Given the description of an element on the screen output the (x, y) to click on. 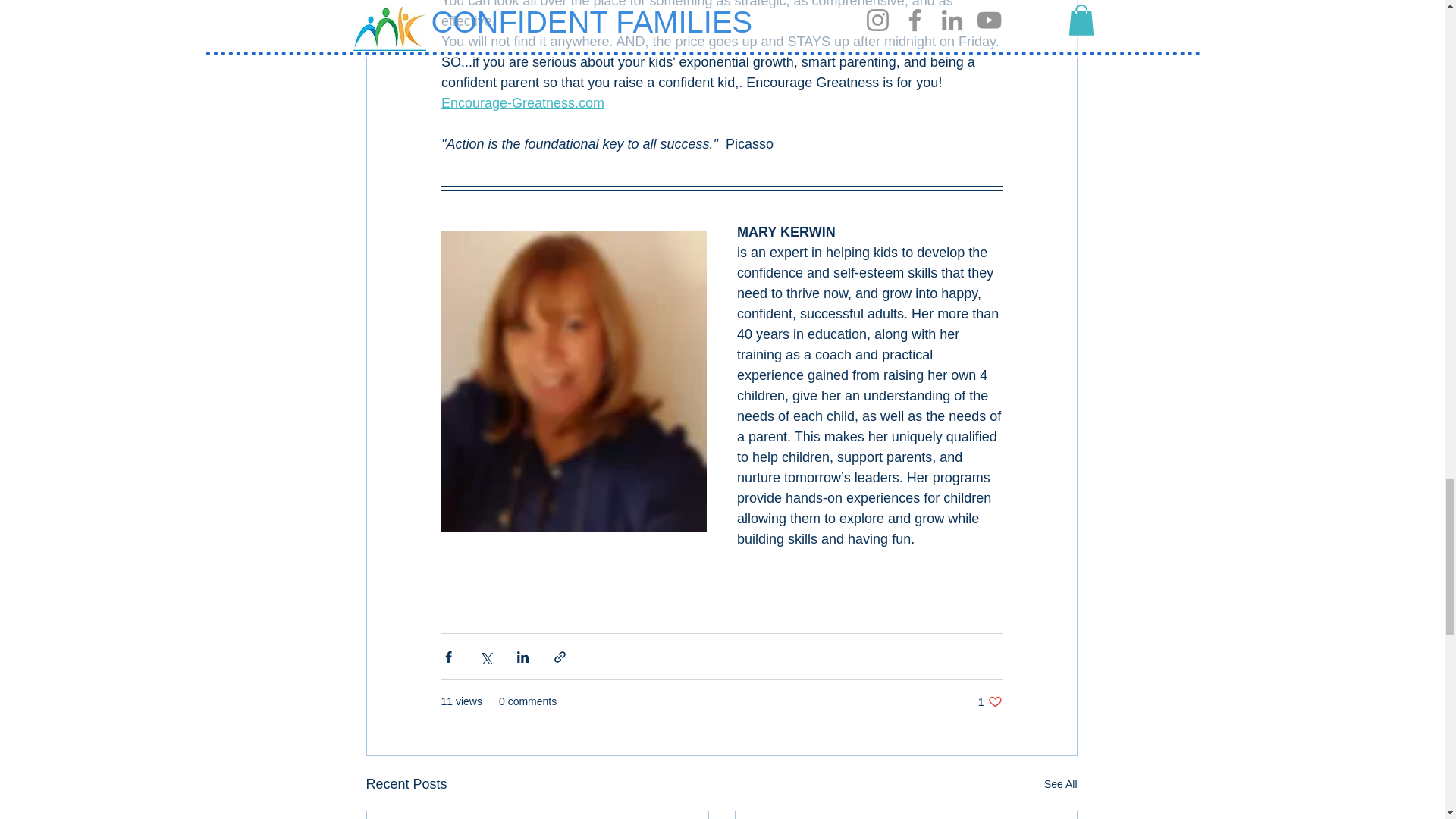
See All (1060, 784)
Encourage-Greatness.com (990, 701)
